Given the description of an element on the screen output the (x, y) to click on. 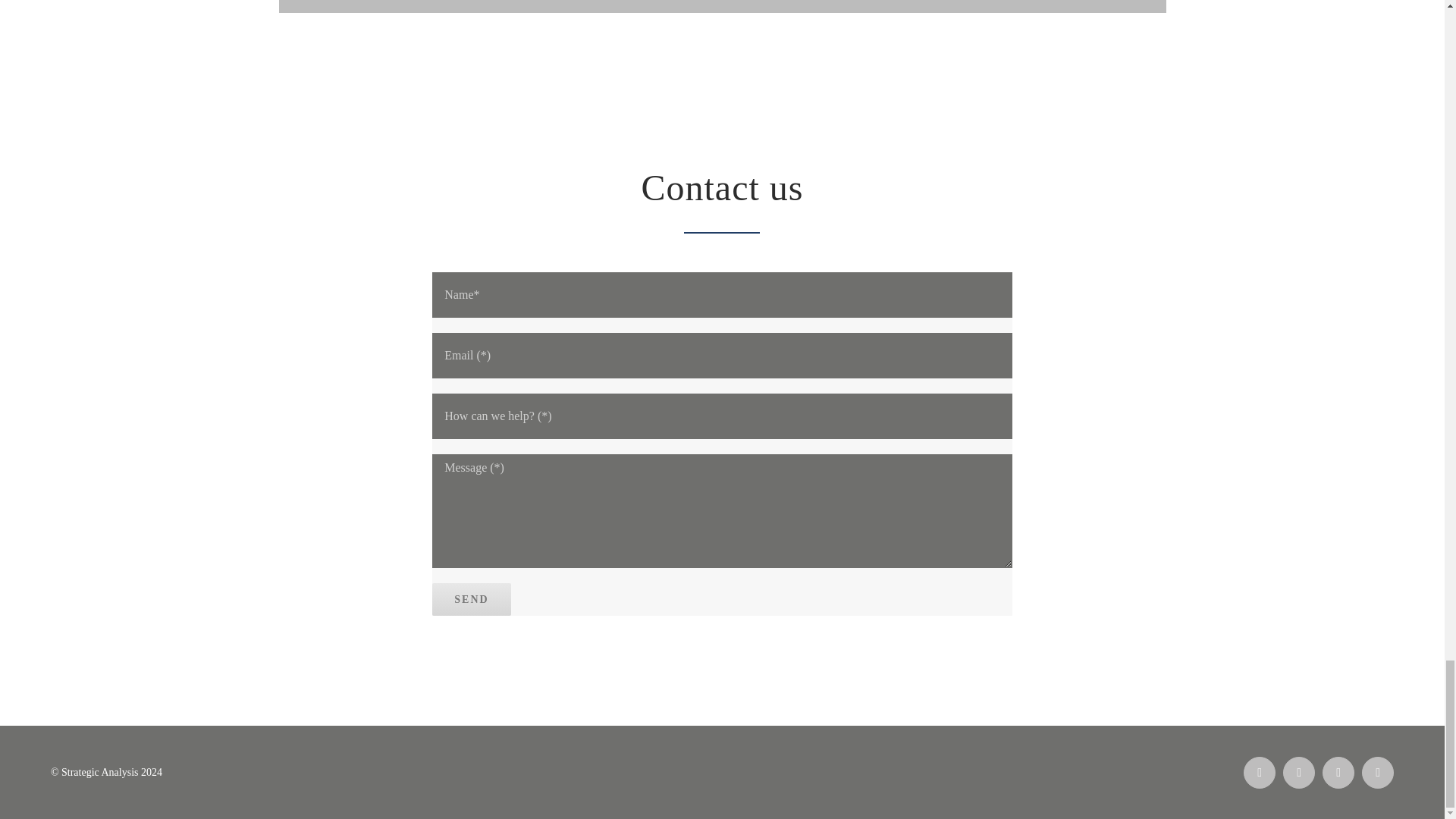
LinkedIn (1338, 772)
Instagram (1377, 772)
Twitter (1298, 772)
Send (471, 599)
Facebook (1259, 772)
